Given the description of an element on the screen output the (x, y) to click on. 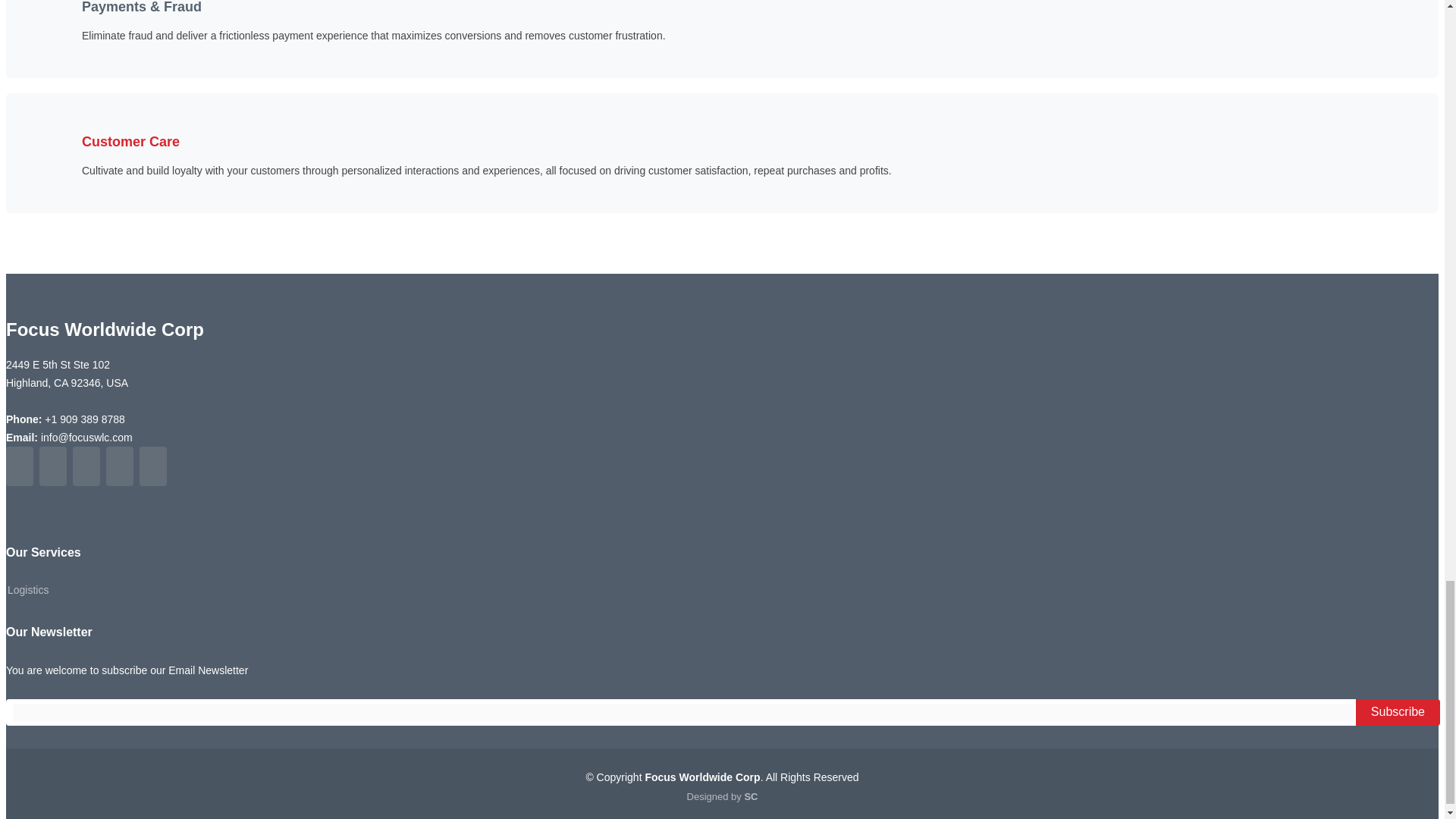
SC (750, 796)
Logistics (27, 589)
